Given the description of an element on the screen output the (x, y) to click on. 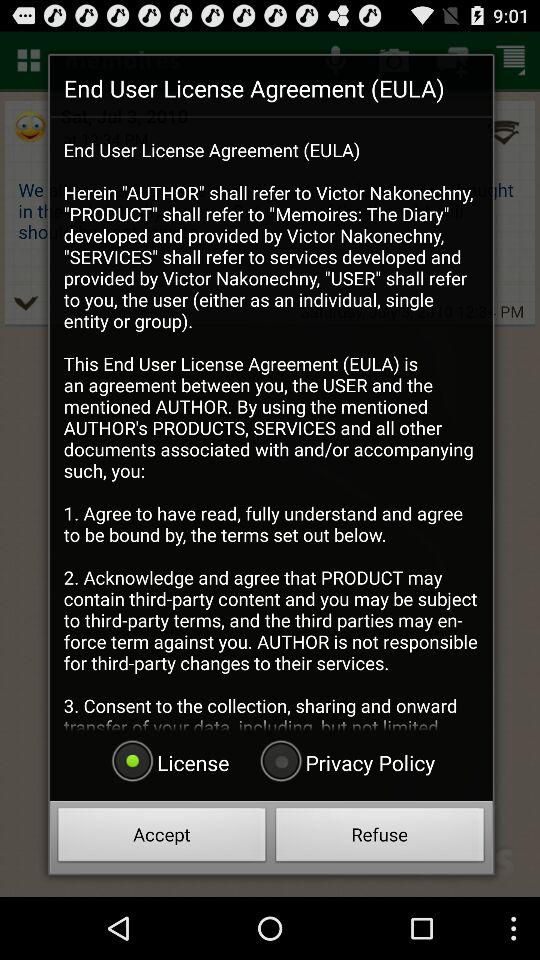
tap the item next to the accept button (380, 837)
